Given the description of an element on the screen output the (x, y) to click on. 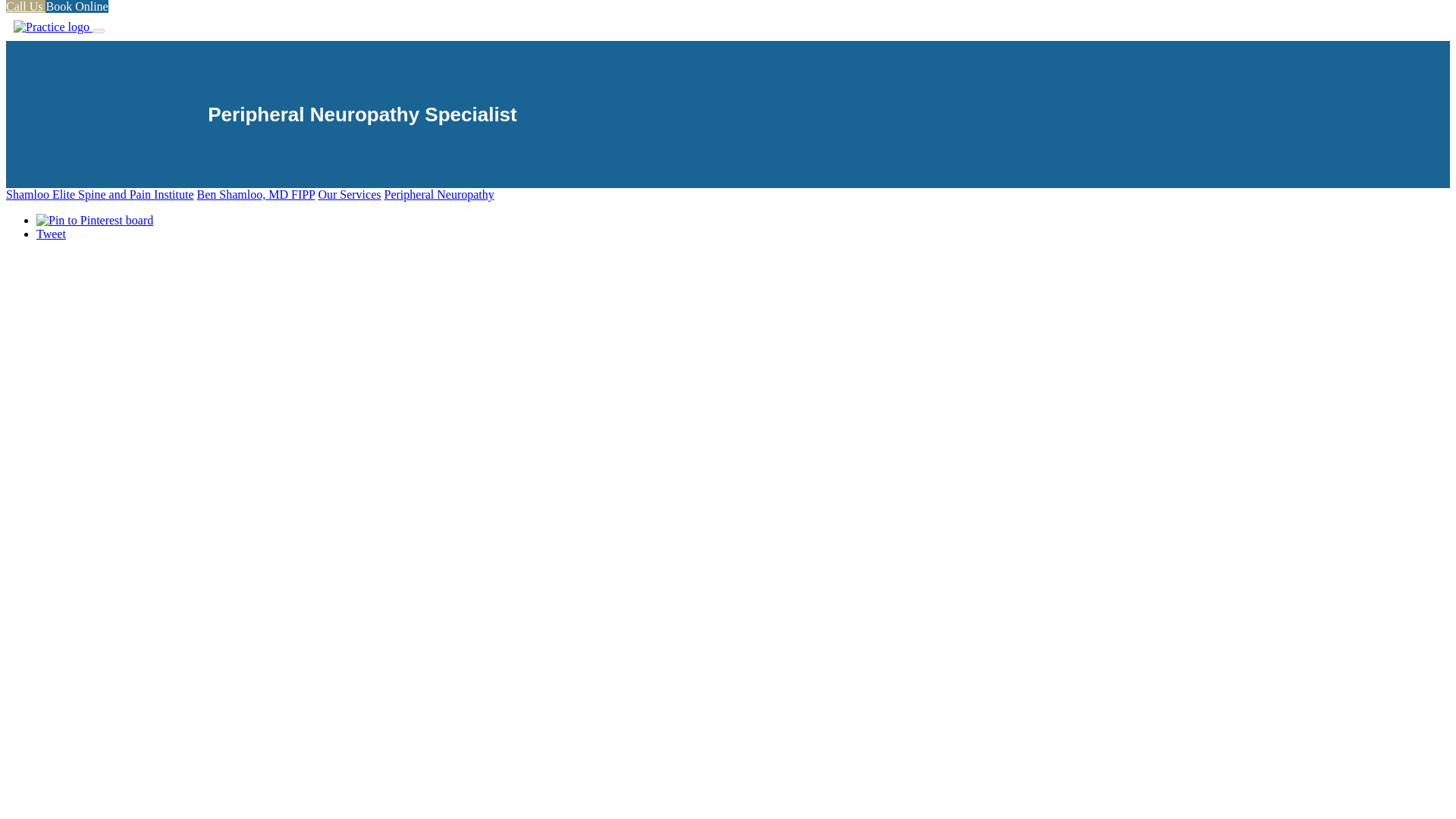
Call Us (25, 6)
Book Online (76, 6)
Our Services (348, 194)
Ben Shamloo, MD FIPP (255, 194)
Peripheral Neuropathy (438, 194)
Shamloo Elite Spine and Pain Institute (99, 194)
Tweet (50, 233)
